Given the description of an element on the screen output the (x, y) to click on. 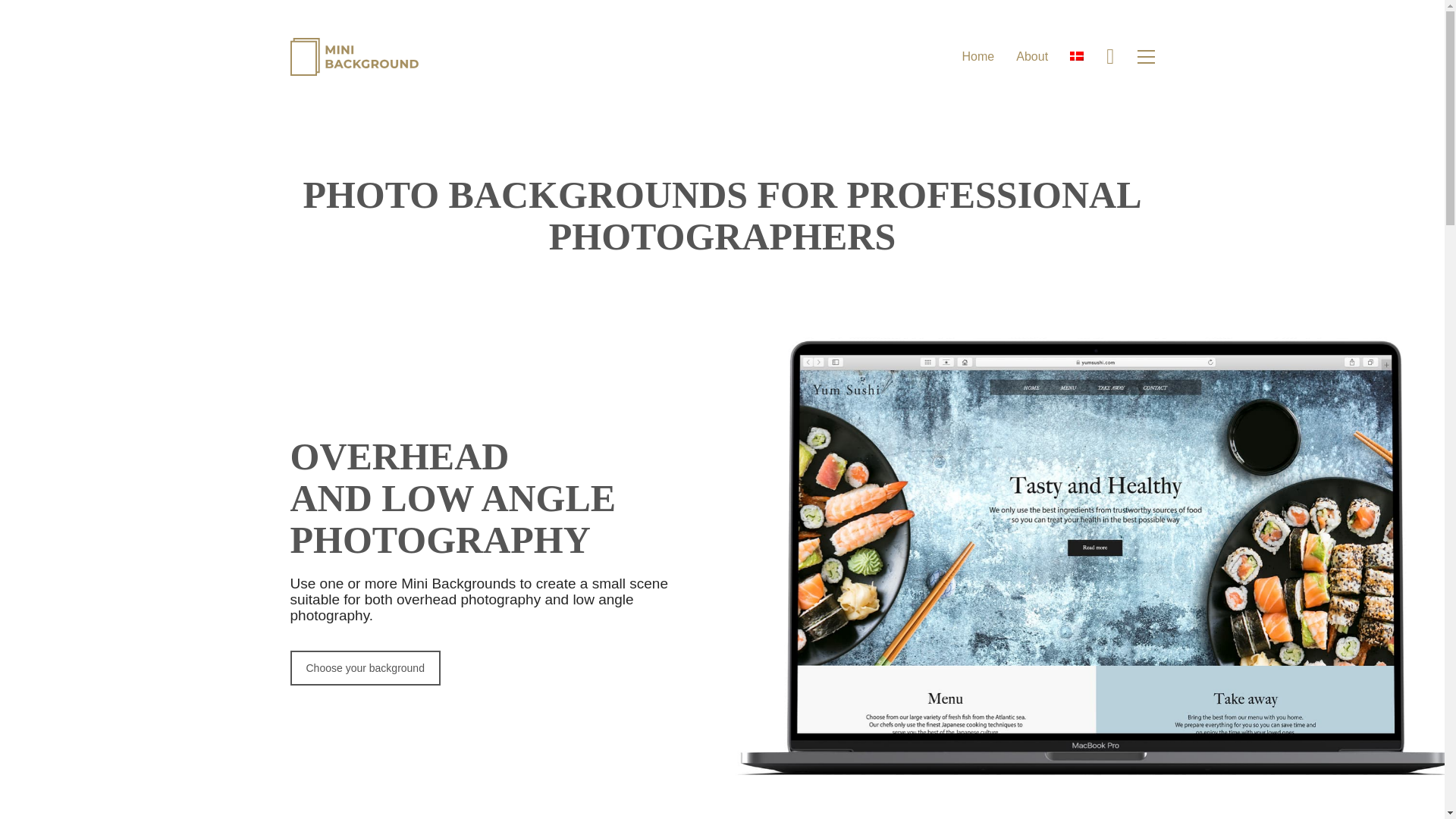
About (1032, 56)
Choose your background (364, 667)
Home (977, 56)
